Given the description of an element on the screen output the (x, y) to click on. 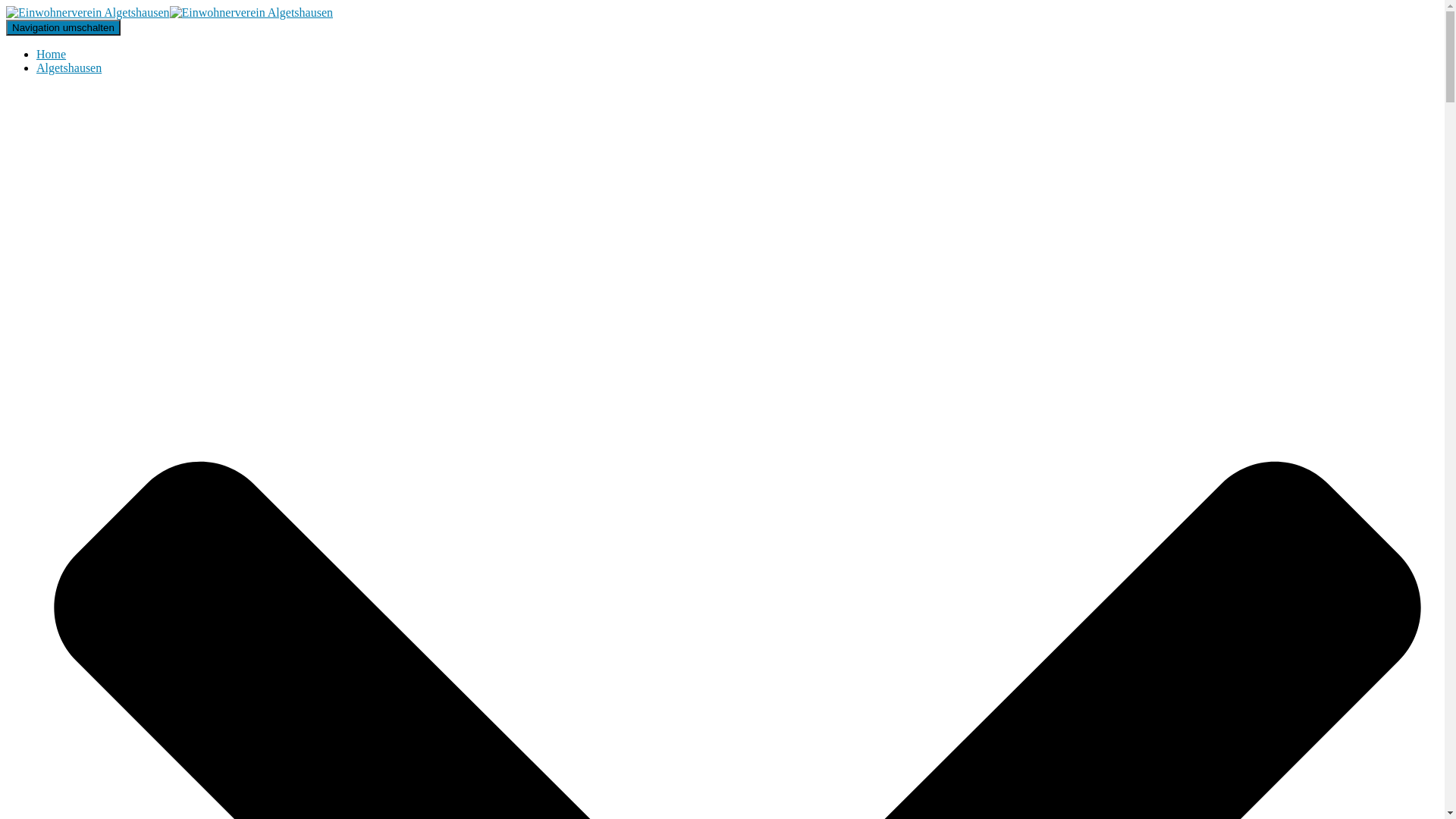
Einwohnerverein Algetshausen Element type: hover (169, 12)
Home Element type: text (50, 53)
Navigation umschalten Element type: text (63, 27)
